Given the description of an element on the screen output the (x, y) to click on. 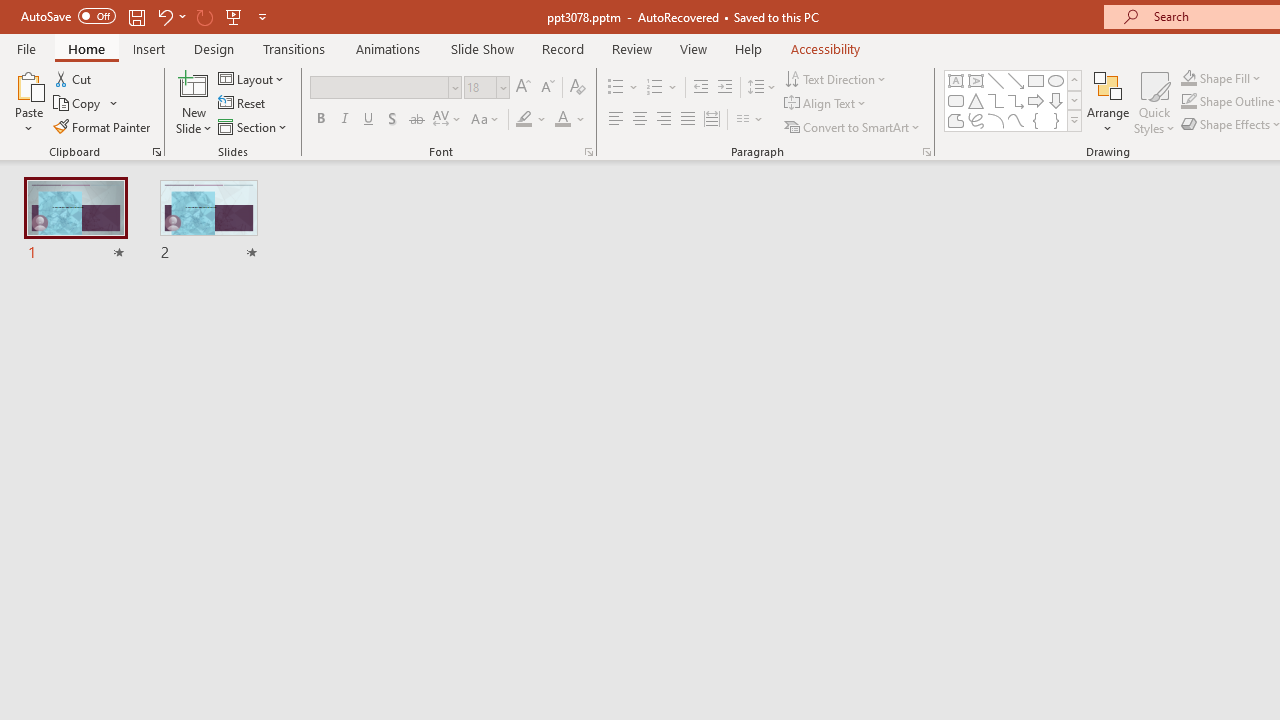
Layout (252, 78)
Shape Fill Dark Green, Accent 2 (1188, 78)
Connector: Elbow (995, 100)
Reset (243, 103)
Format Painter (103, 126)
Center (639, 119)
Arc (995, 120)
Freeform: Scribble (975, 120)
Font... (588, 151)
Align Right (663, 119)
Shadow (392, 119)
Section (254, 126)
Font Color Red (562, 119)
Arrange (1108, 102)
